Given the description of an element on the screen output the (x, y) to click on. 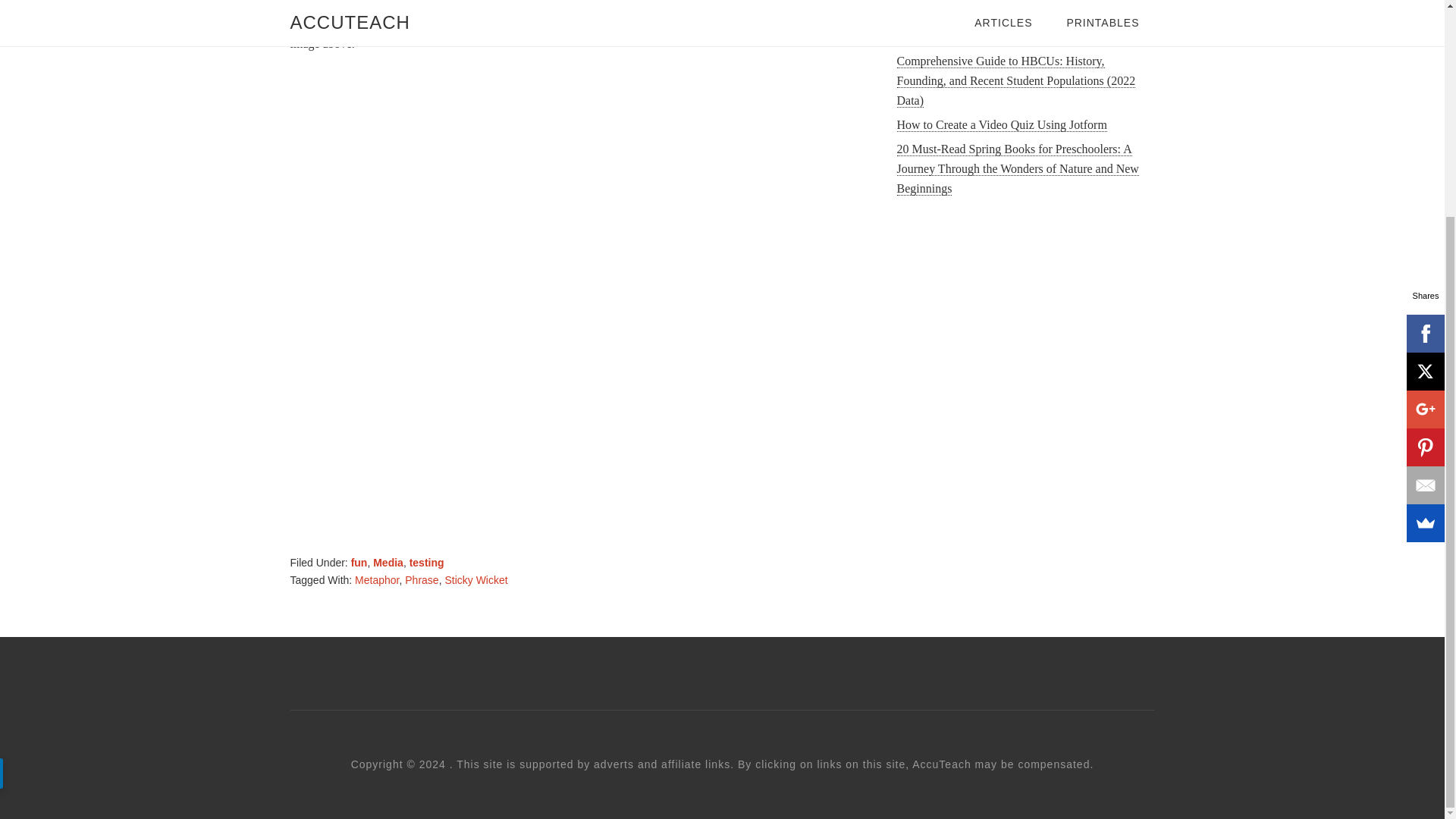
Metaphor (376, 579)
Phrase (421, 579)
fun (359, 562)
Sticky Wicket (475, 579)
Media (387, 562)
Advertisement (1025, 335)
testing (426, 562)
How to Create a Video Quiz Using Jotform (1001, 124)
